Given the description of an element on the screen output the (x, y) to click on. 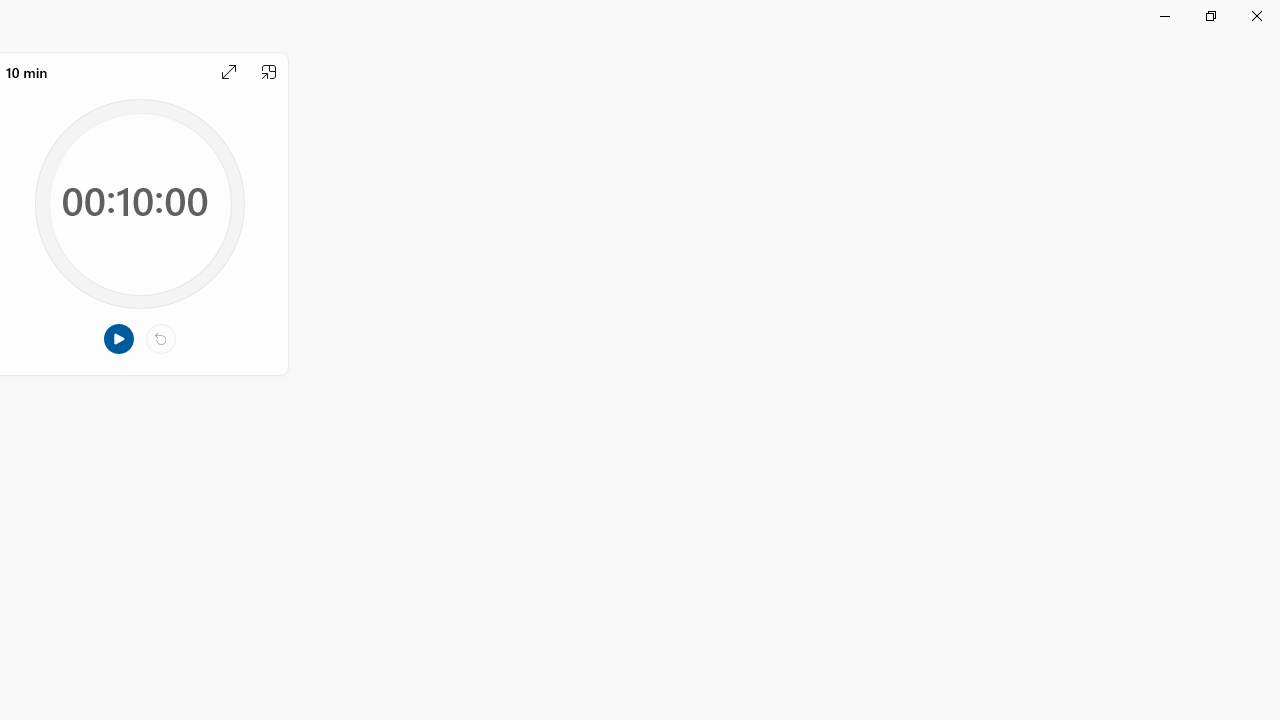
Minimize Clock (1164, 15)
Reset (160, 339)
Restore Clock (1210, 15)
Expand (228, 71)
Close Clock (1256, 15)
Keep on top (269, 71)
